Given the description of an element on the screen output the (x, y) to click on. 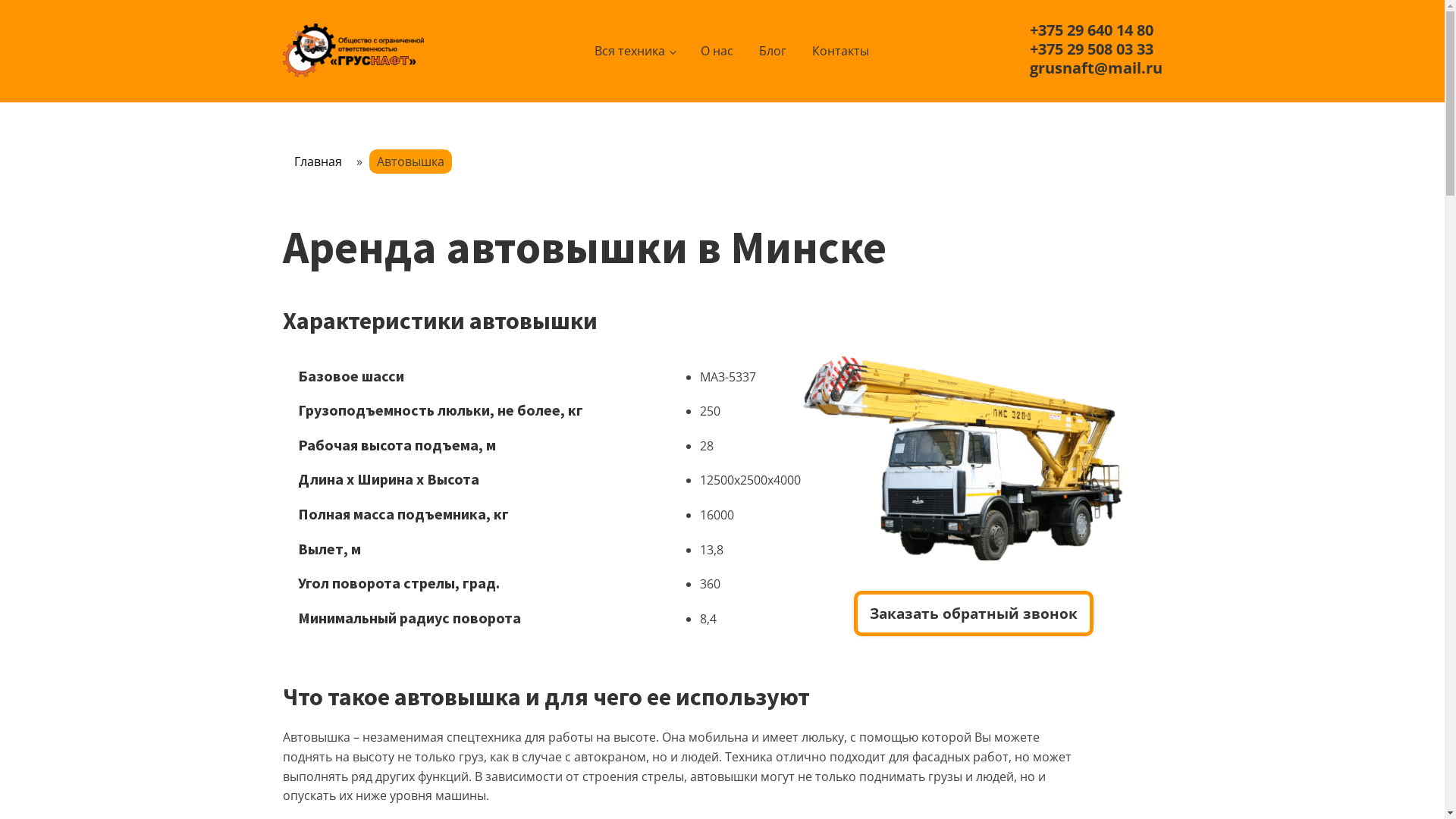
grusnaft@mail.ru Element type: text (1095, 67)
+375 29 640 14 80 Element type: text (1091, 29)
+375 29 508 03 33 Element type: text (1091, 48)
